Given the description of an element on the screen output the (x, y) to click on. 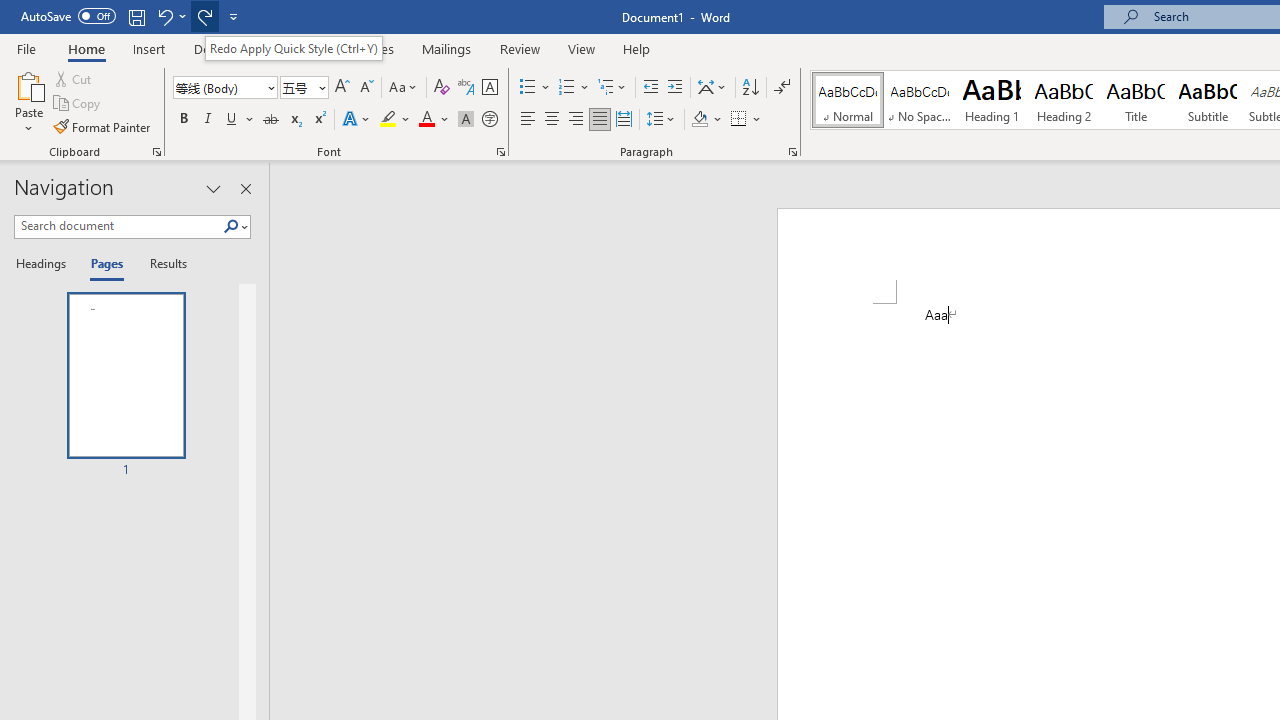
Undo Increase Indent (164, 15)
Undo Increase Indent (170, 15)
